Given the description of an element on the screen output the (x, y) to click on. 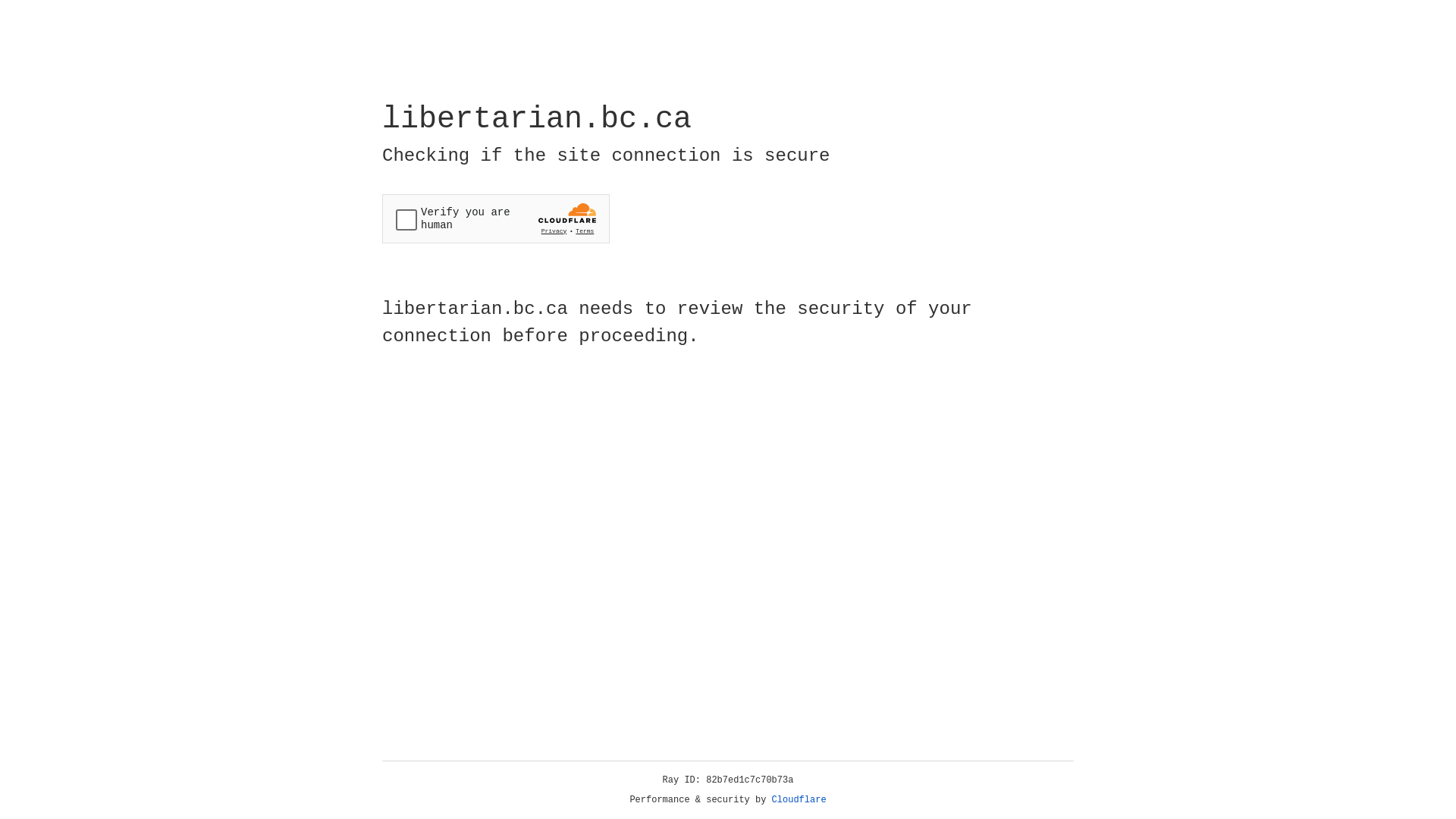
Widget containing a Cloudflare security challenge Element type: hover (495, 218)
Cloudflare Element type: text (798, 799)
